Given the description of an element on the screen output the (x, y) to click on. 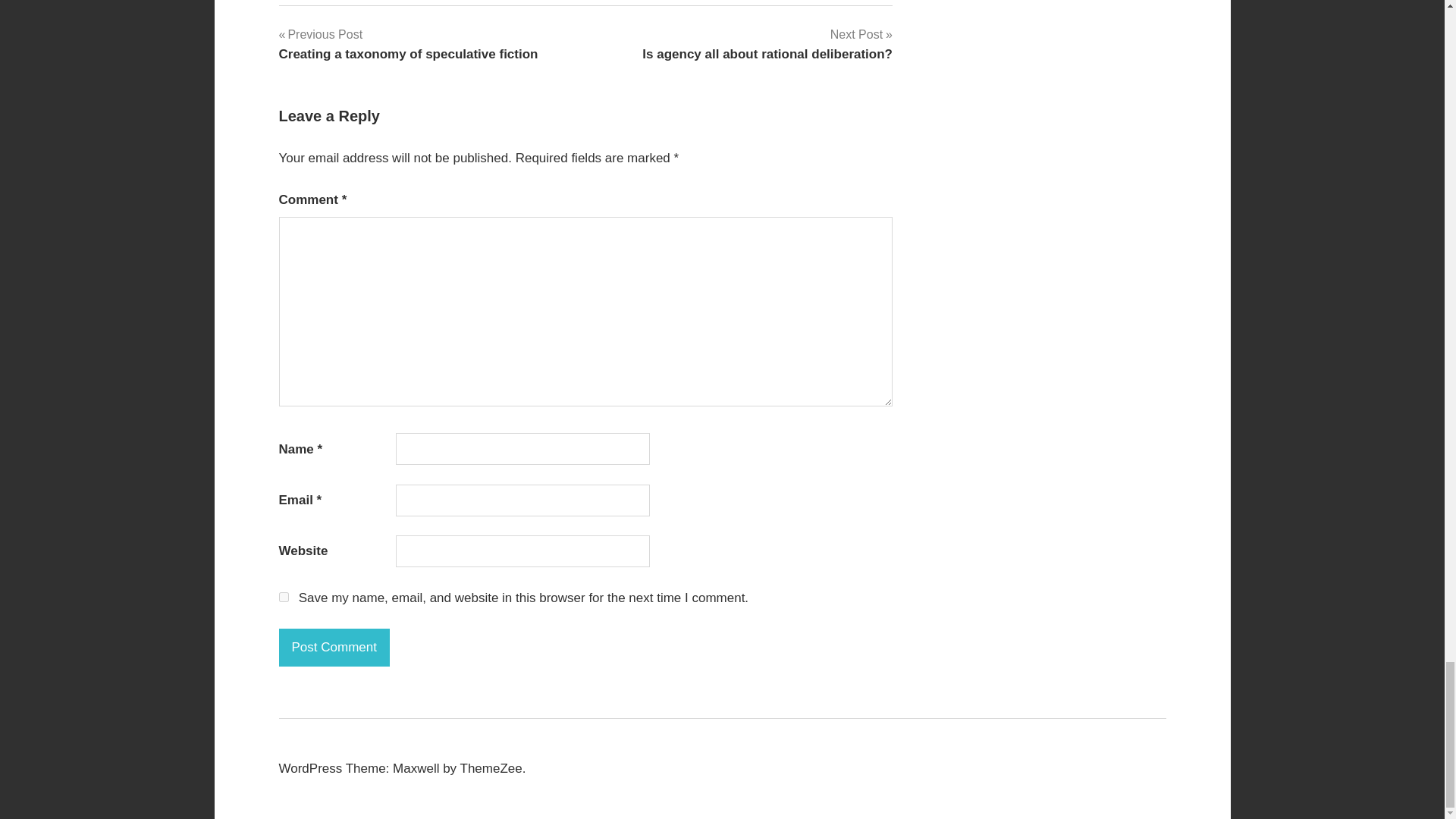
Post Comment (334, 647)
yes (408, 43)
Post Comment (767, 43)
